Given the description of an element on the screen output the (x, y) to click on. 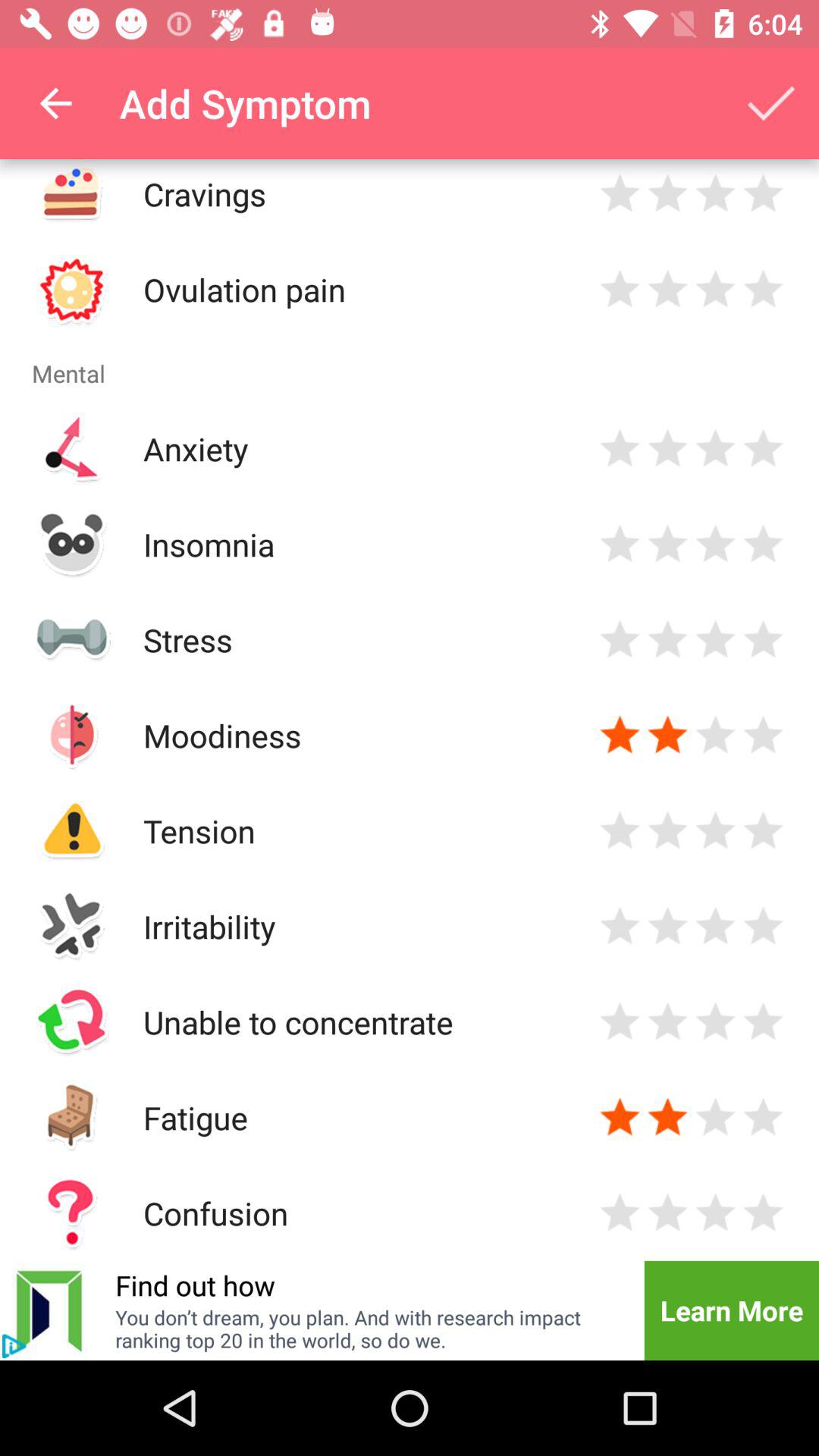
three stars (715, 289)
